Given the description of an element on the screen output the (x, y) to click on. 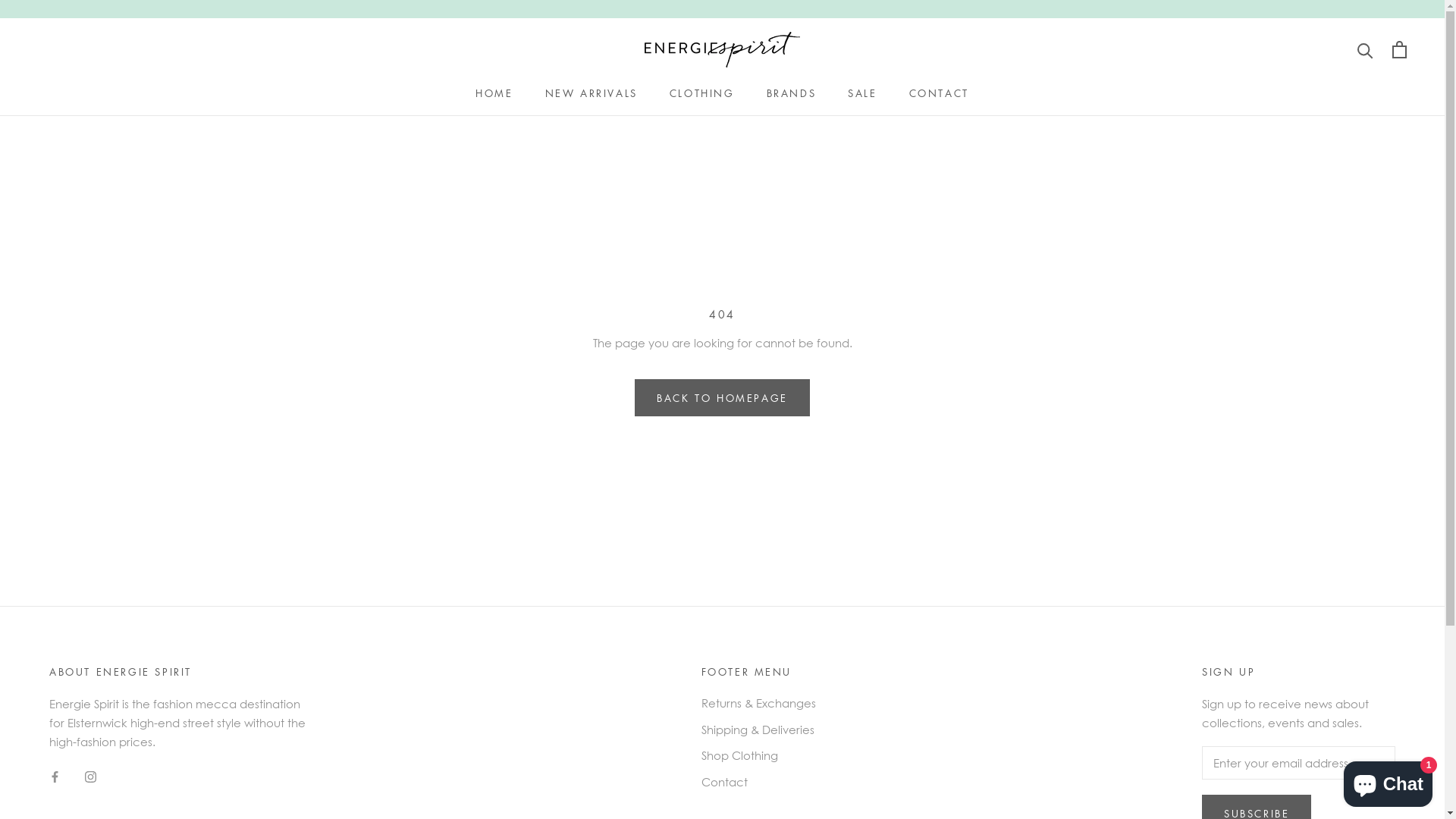
Returns & Exchanges Element type: text (757, 703)
HOME
HOME Element type: text (493, 92)
CONTACT
CONTACT Element type: text (939, 92)
Shop Clothing Element type: text (757, 755)
Shipping & Deliveries Element type: text (757, 729)
SALE
SALE Element type: text (861, 92)
NEW ARRIVALS
NEW ARRIVALS Element type: text (591, 92)
Contact Element type: text (757, 781)
BRANDS Element type: text (791, 92)
CLOTHING Element type: text (701, 92)
Shopify online store chat Element type: hover (1388, 780)
BACK TO HOMEPAGE Element type: text (721, 397)
